Given the description of an element on the screen output the (x, y) to click on. 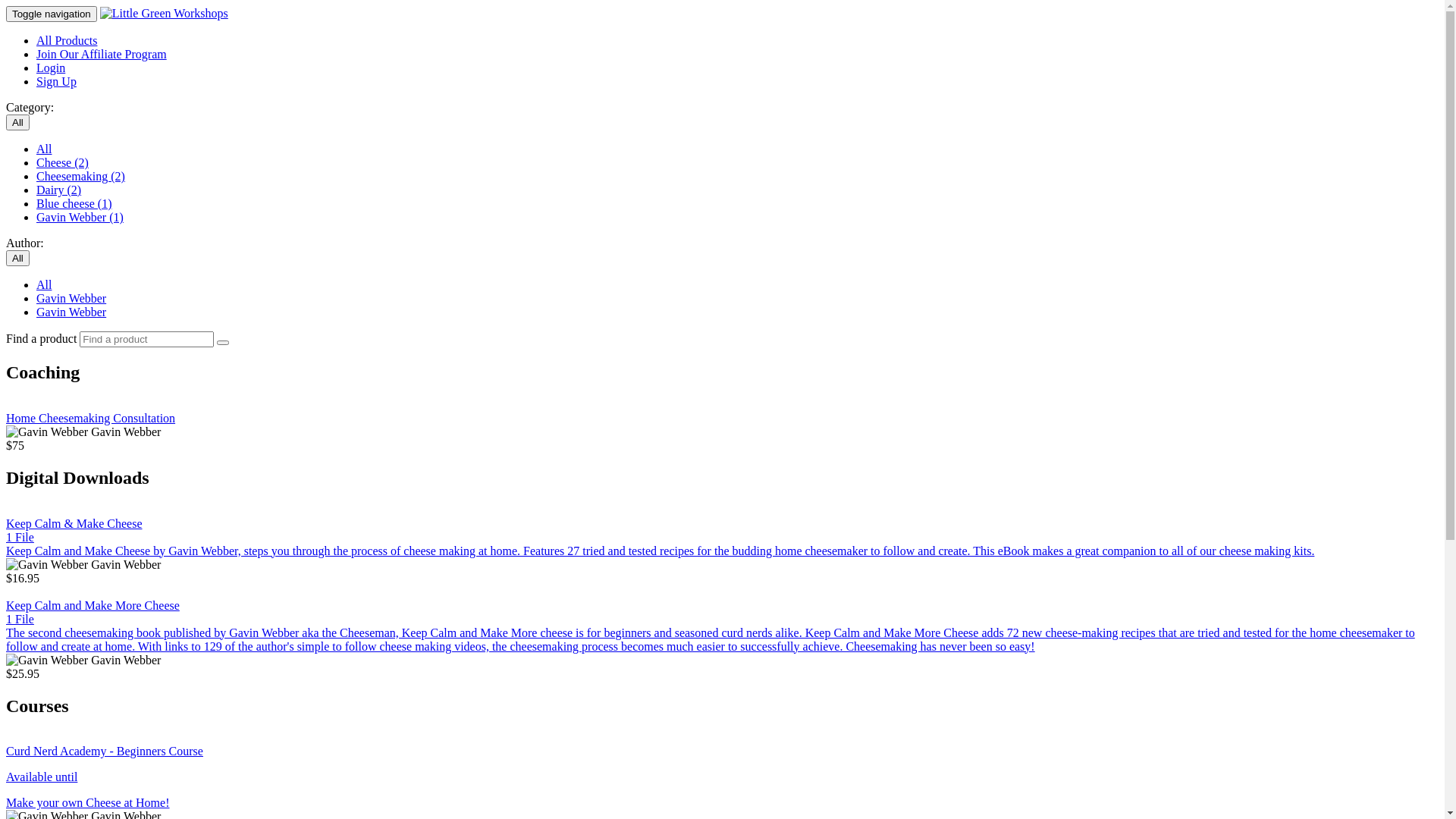
Cheese (2) Element type: text (62, 162)
Cheesemaking (2) Element type: text (80, 175)
All Products Element type: text (66, 40)
Join Our Affiliate Program Element type: text (101, 53)
Sign Up Element type: text (56, 81)
All Element type: text (43, 284)
Toggle navigation Element type: text (51, 13)
Dairy (2) Element type: text (58, 189)
Gavin Webber Element type: text (71, 297)
Home Cheesemaking Consultation Element type: text (722, 411)
Gavin Webber Element type: text (71, 311)
All Element type: text (17, 122)
Login Element type: text (50, 67)
Gavin Webber (1) Element type: text (79, 216)
All Element type: text (43, 148)
All Element type: text (17, 258)
Blue cheese (1) Element type: text (74, 203)
